Given the description of an element on the screen output the (x, y) to click on. 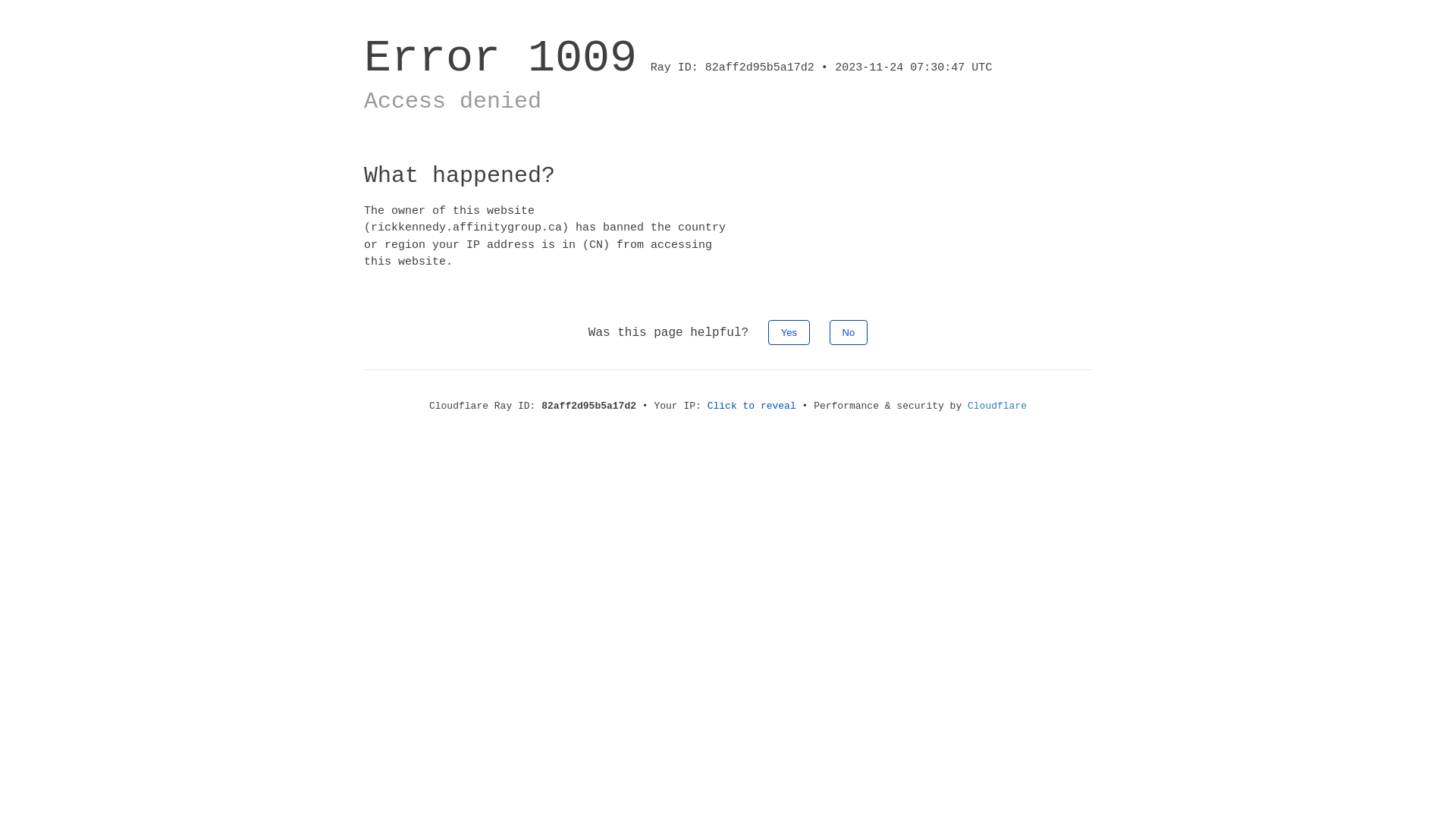
Click to reveal Element type: text (751, 405)
Yes Element type: text (788, 332)
Cloudflare Element type: text (996, 405)
No Element type: text (848, 332)
